Given the description of an element on the screen output the (x, y) to click on. 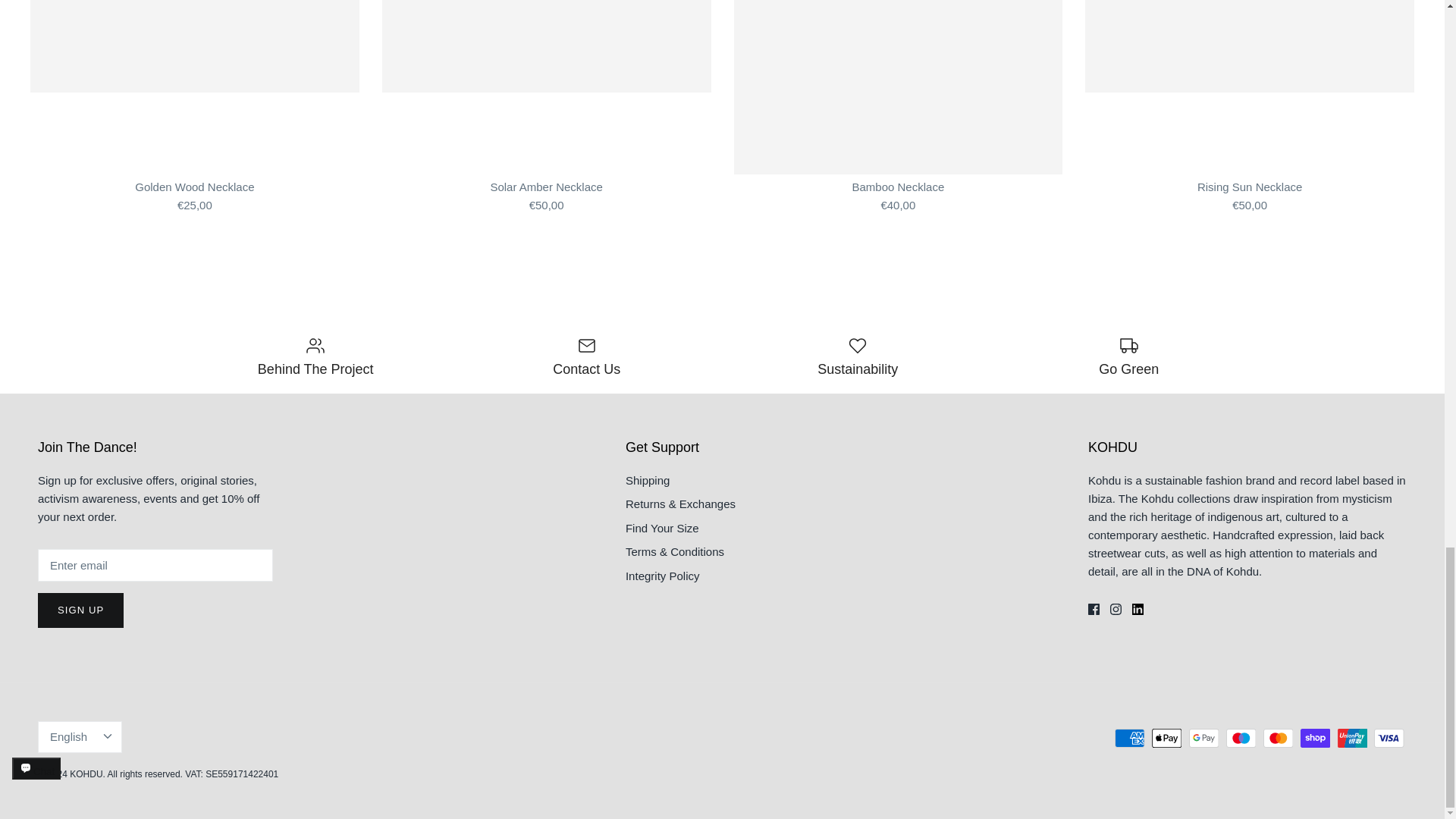
Facebook (1093, 609)
American Express (1129, 737)
Instagram (1115, 609)
Apple Pay (1166, 737)
